Given the description of an element on the screen output the (x, y) to click on. 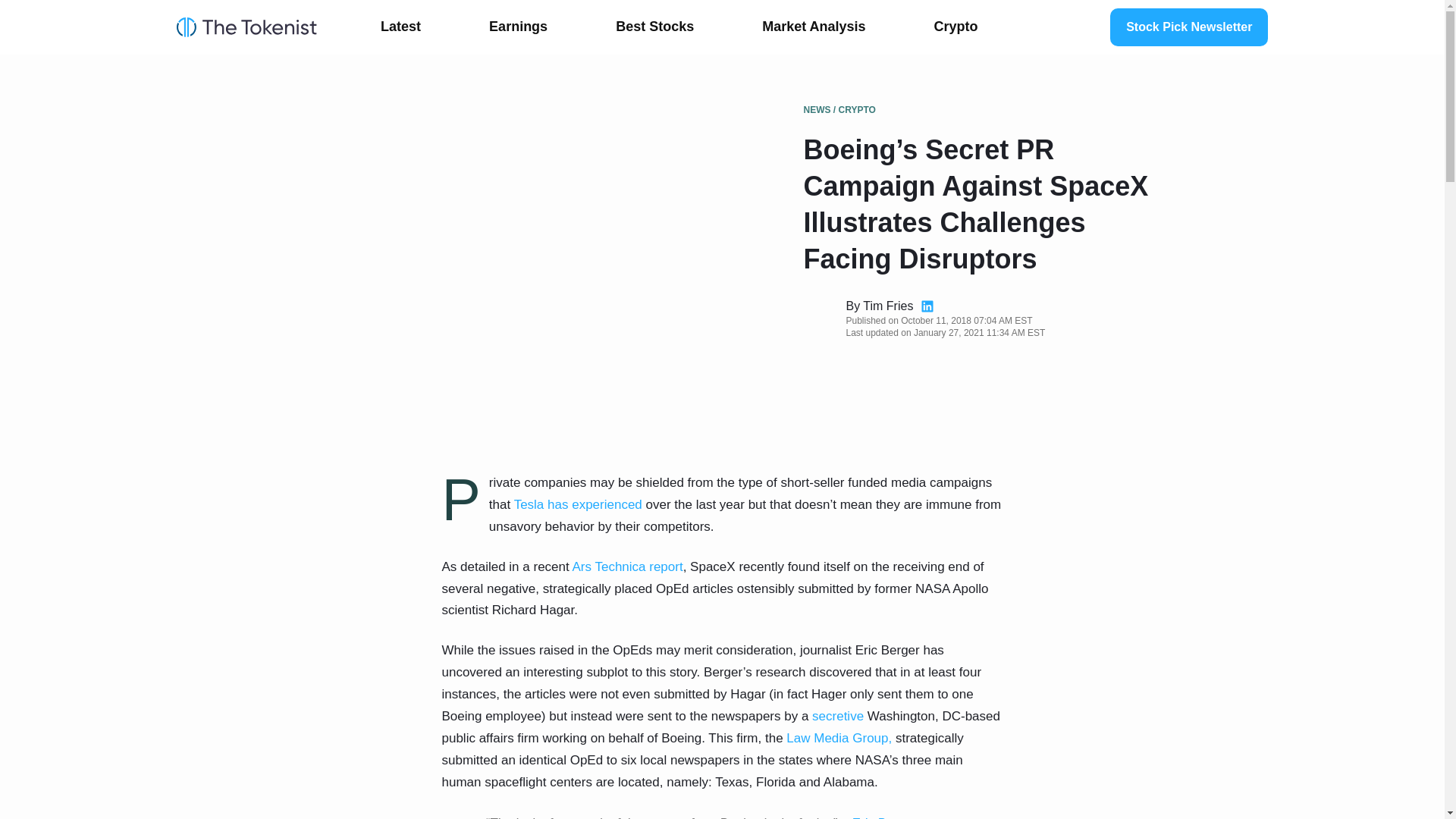
secretive (837, 716)
NEWS (817, 109)
Best Stocks (654, 27)
Eric Berger (882, 817)
Tim Fries (887, 305)
Market Analysis (813, 27)
CRYPTO (857, 109)
Ars Technica report (627, 566)
Law Media Group,  (840, 738)
Tesla has experienced (577, 504)
